Given the description of an element on the screen output the (x, y) to click on. 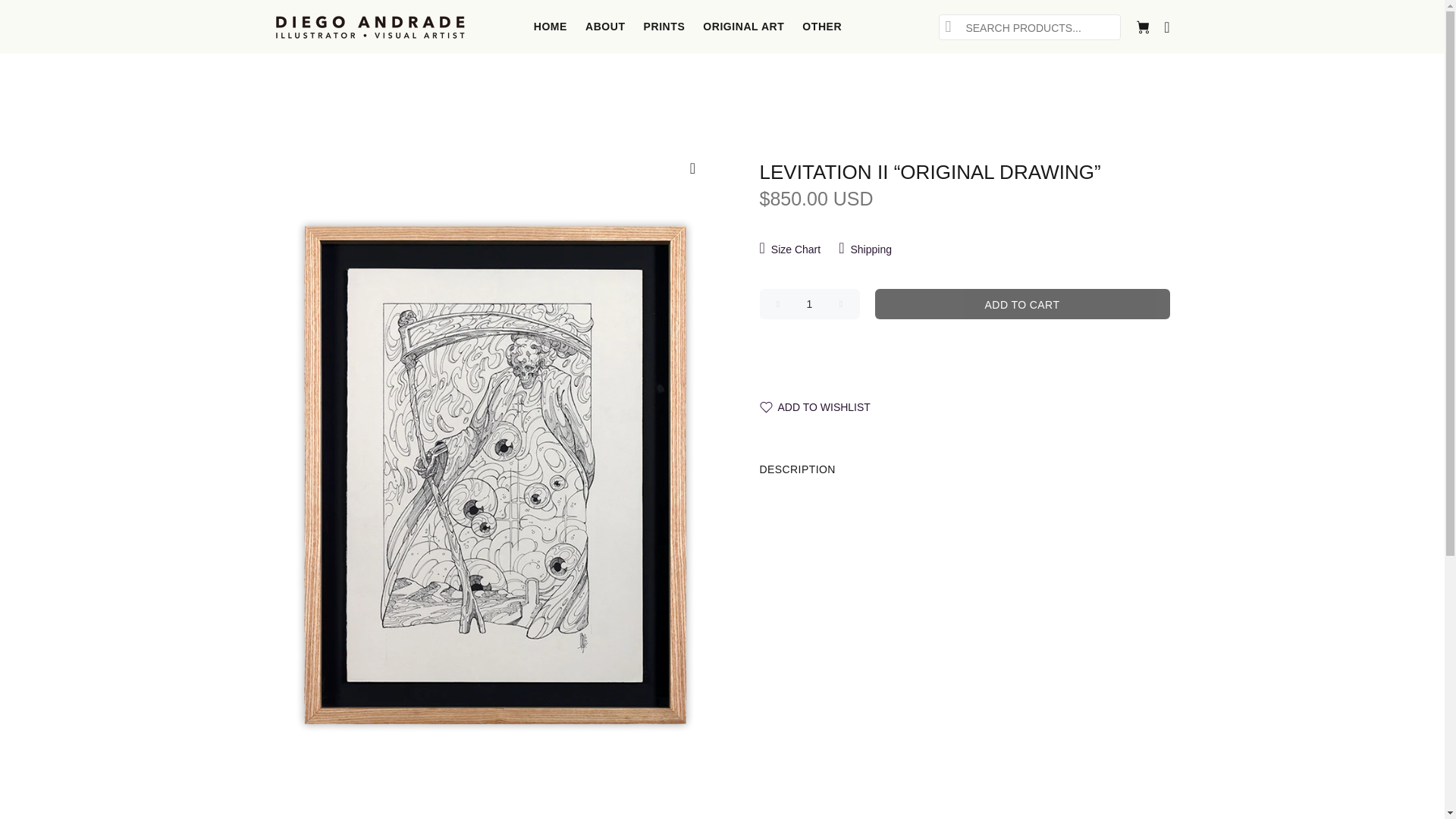
ADD TO CART (1022, 304)
1 (810, 304)
ABOUT (605, 26)
Shipping (865, 249)
PRINTS (664, 26)
OTHER (817, 26)
ORIGINAL ART (743, 26)
HOME (550, 26)
Size Chart (794, 249)
